Given the description of an element on the screen output the (x, y) to click on. 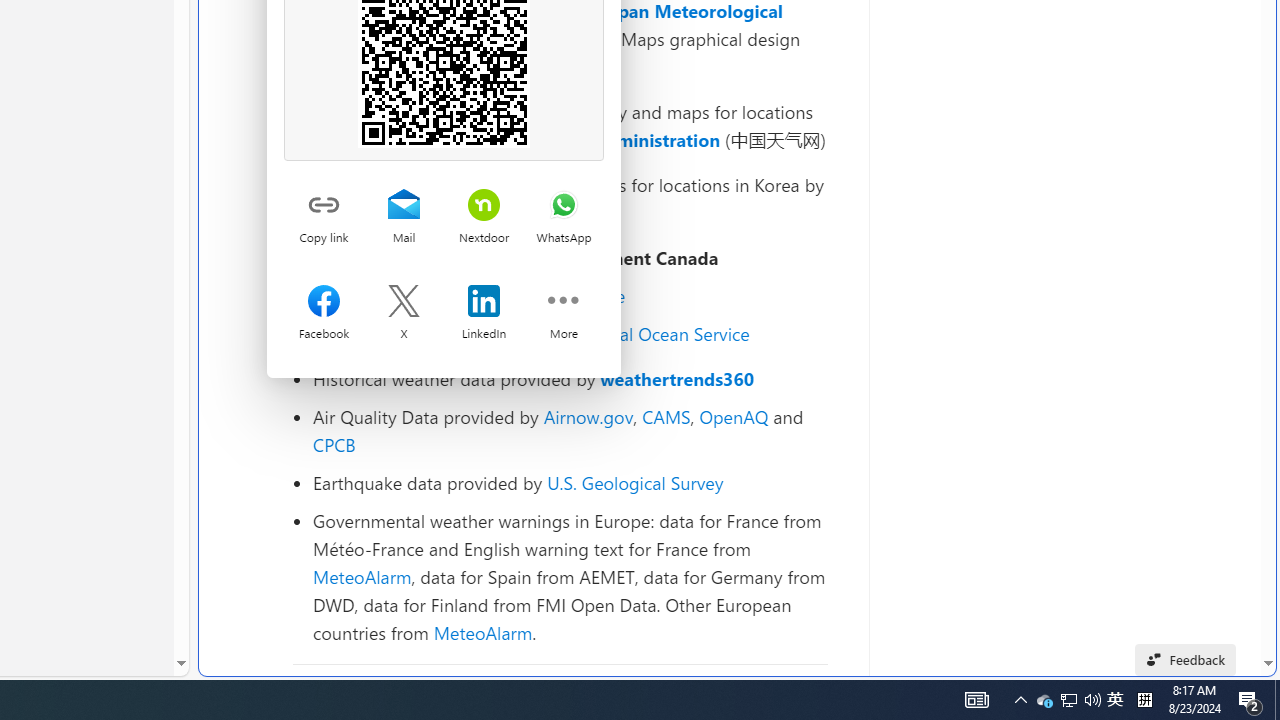
Share via email (403, 206)
CPCB (334, 444)
Share on LinkedIn (484, 303)
Airnow.gov (587, 416)
Canadian radar map data by Environment Canada (570, 258)
Historical weather data provided by weathertrends360 (570, 379)
China Meteorological Administration (562, 139)
Lightning data provided by Nowcast.de (570, 296)
weathertrends360 (677, 378)
